Given the description of an element on the screen output the (x, y) to click on. 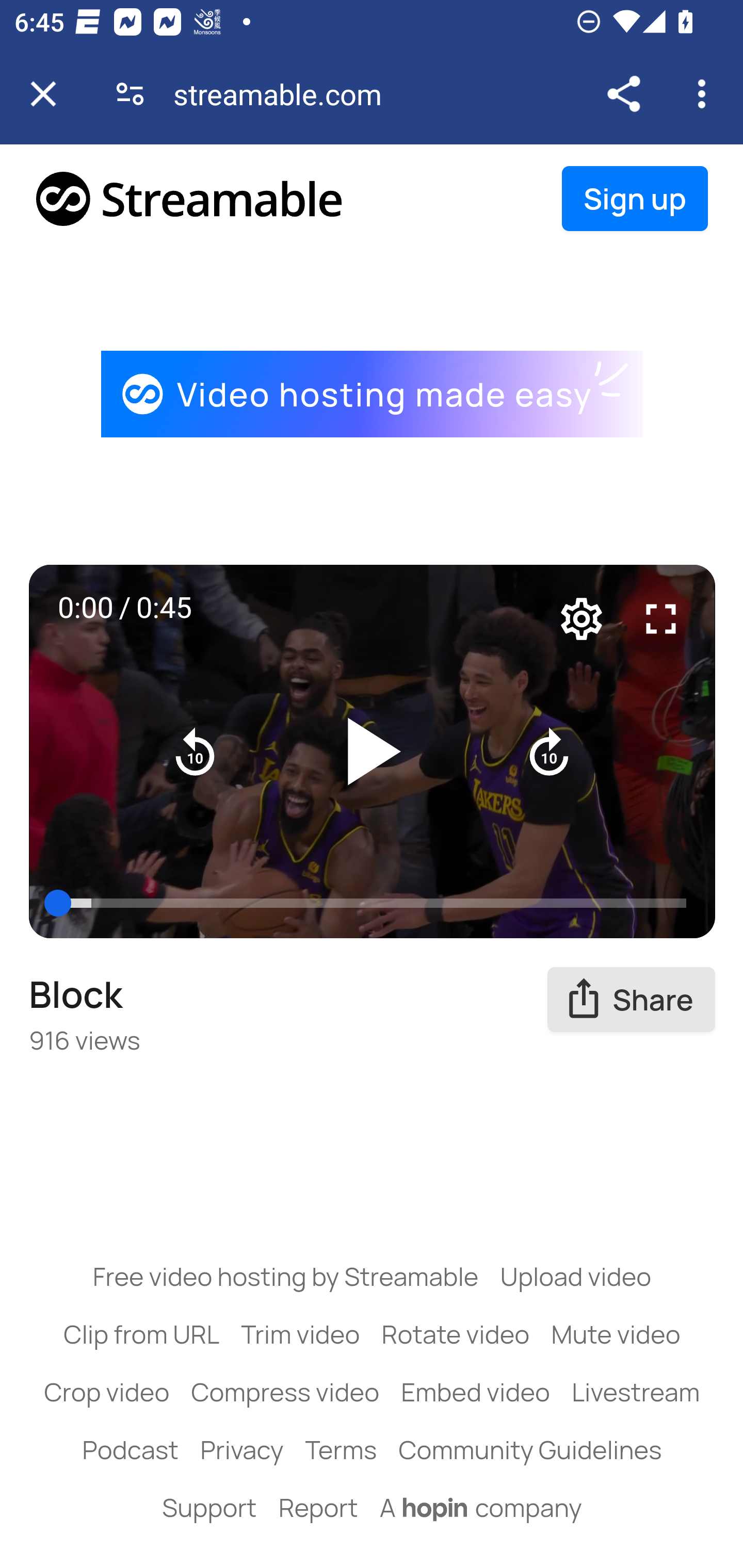
Close tab (43, 93)
Share (623, 93)
Customize and control Google Chrome (705, 93)
Connection is secure (129, 93)
streamable.com (284, 93)
Sign up (634, 199)
Streamable Logo (189, 198)
Options (o) (581, 618)
Full screen (f) (662, 618)
Play (k) (372, 751)
Seek back (j) (195, 751)
Seek forward (l) (549, 751)
ios_share Share (631, 999)
Free video hosting by Streamable (286, 1275)
Upload video (574, 1275)
Clip from URL (141, 1333)
Trim video (300, 1333)
Rotate video (455, 1333)
Mute video (615, 1333)
Crop video (107, 1391)
Compress video (284, 1391)
Embed video (475, 1391)
Livestream (635, 1391)
Podcast (130, 1449)
Privacy (241, 1449)
Terms (340, 1449)
Community Guidelines (529, 1449)
Support (208, 1507)
Report (317, 1507)
A company A company (480, 1507)
